Given the description of an element on the screen output the (x, y) to click on. 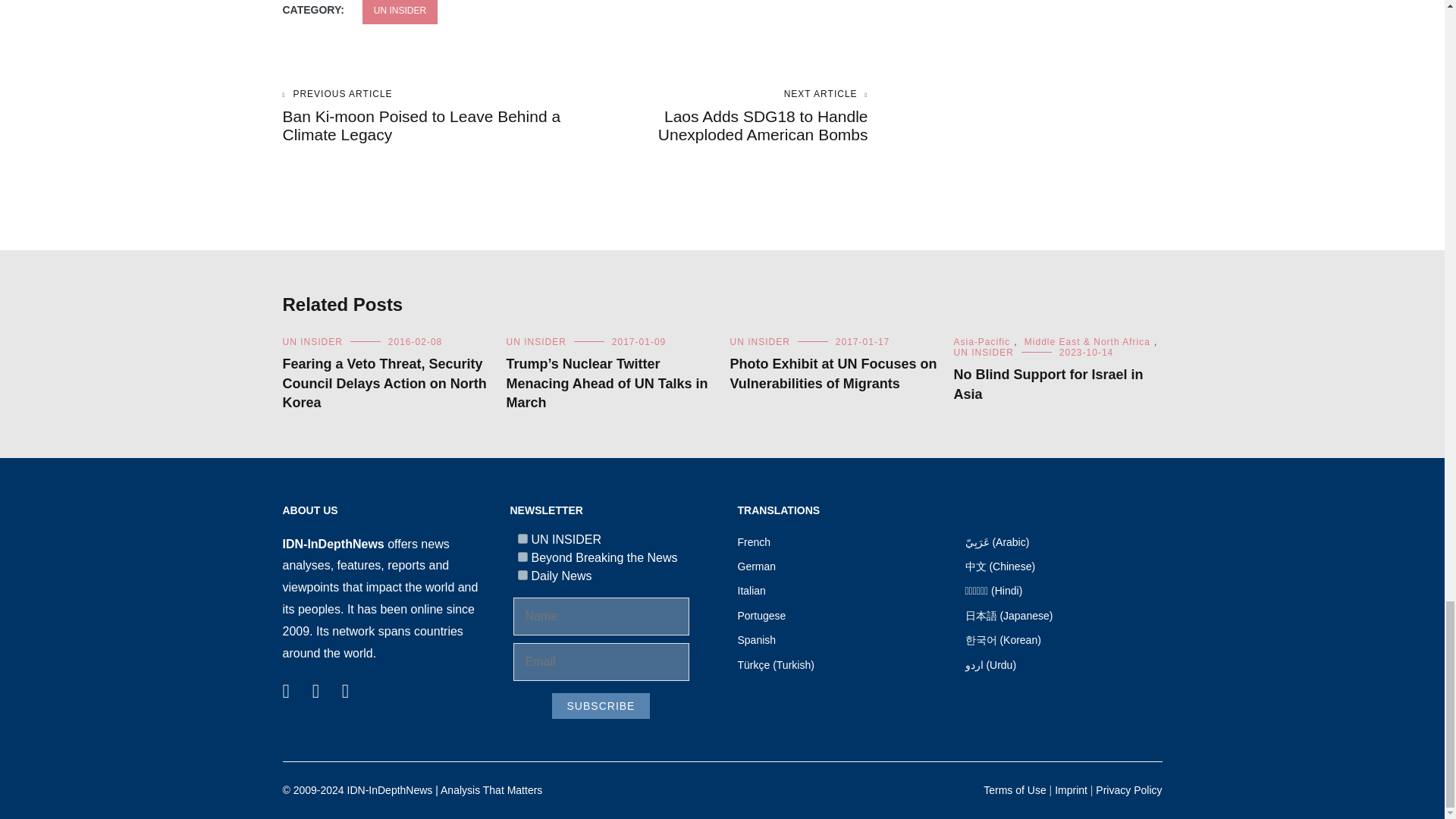
Terms of Use (1014, 789)
9 (521, 556)
Twitter (315, 687)
LinkedIn (345, 687)
Imprint (1070, 789)
Facebook (285, 687)
7 (521, 538)
10 (521, 574)
